Given the description of an element on the screen output the (x, y) to click on. 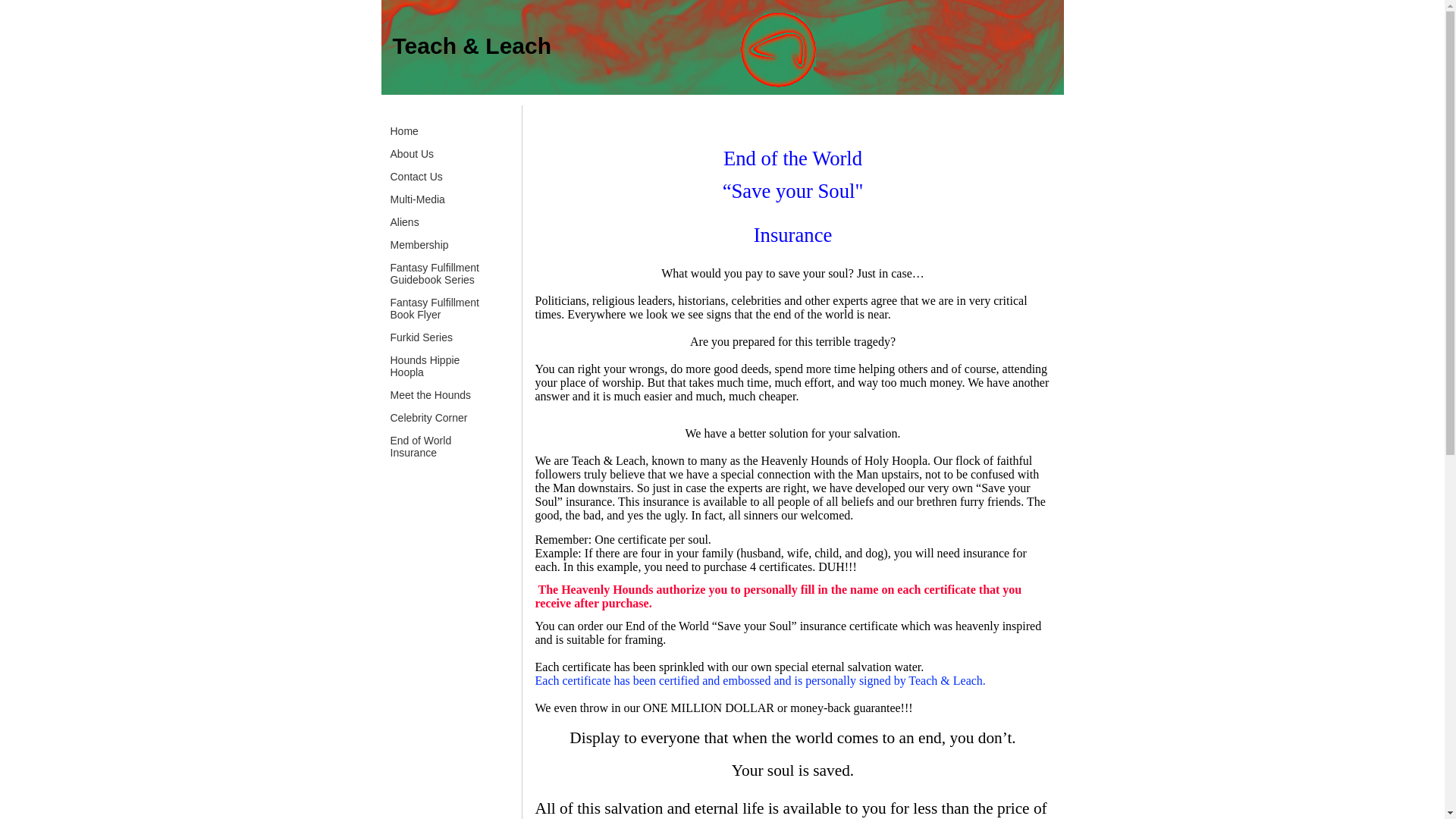
Meet the Hounds Element type: text (429, 400)
Aliens Element type: text (403, 227)
Teach & Leach Element type: text (472, 45)
Furkid Series Element type: text (420, 342)
Membership Element type: text (418, 249)
Contact Us Element type: text (415, 181)
Celebrity Corner Element type: text (428, 422)
Hounds Hippie Hoopla Element type: text (424, 371)
Multi-Media Element type: text (416, 204)
End of World Insurance Element type: text (420, 451)
Fantasy Fulfillment Guidebook Series Element type: text (433, 278)
Fantasy Fulfillment Book Flyer Element type: text (433, 313)
Home Element type: text (403, 136)
About Us Element type: text (411, 158)
